Given the description of an element on the screen output the (x, y) to click on. 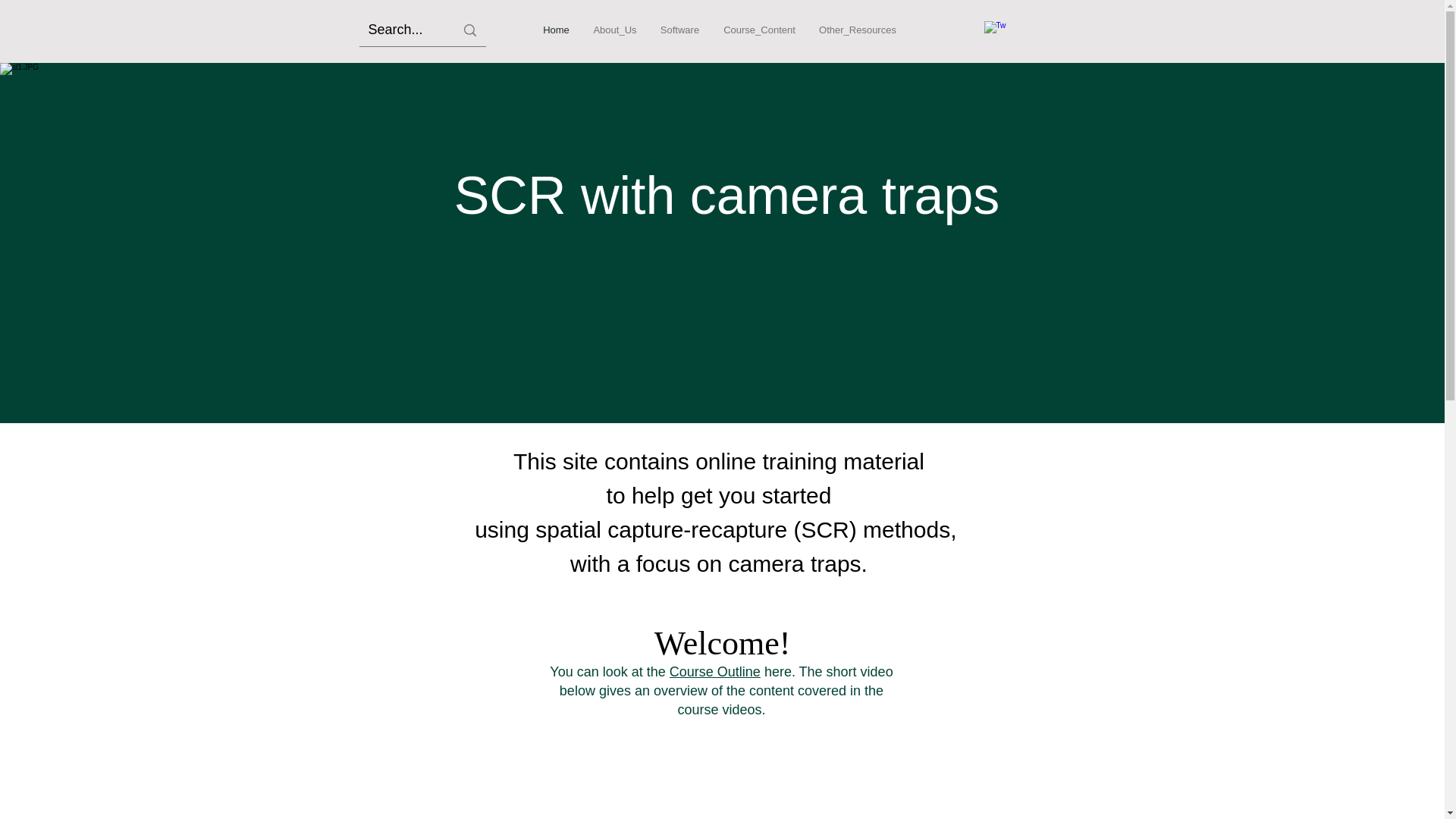
Software (679, 29)
Course Outline (714, 671)
Home (555, 29)
